Given the description of an element on the screen output the (x, y) to click on. 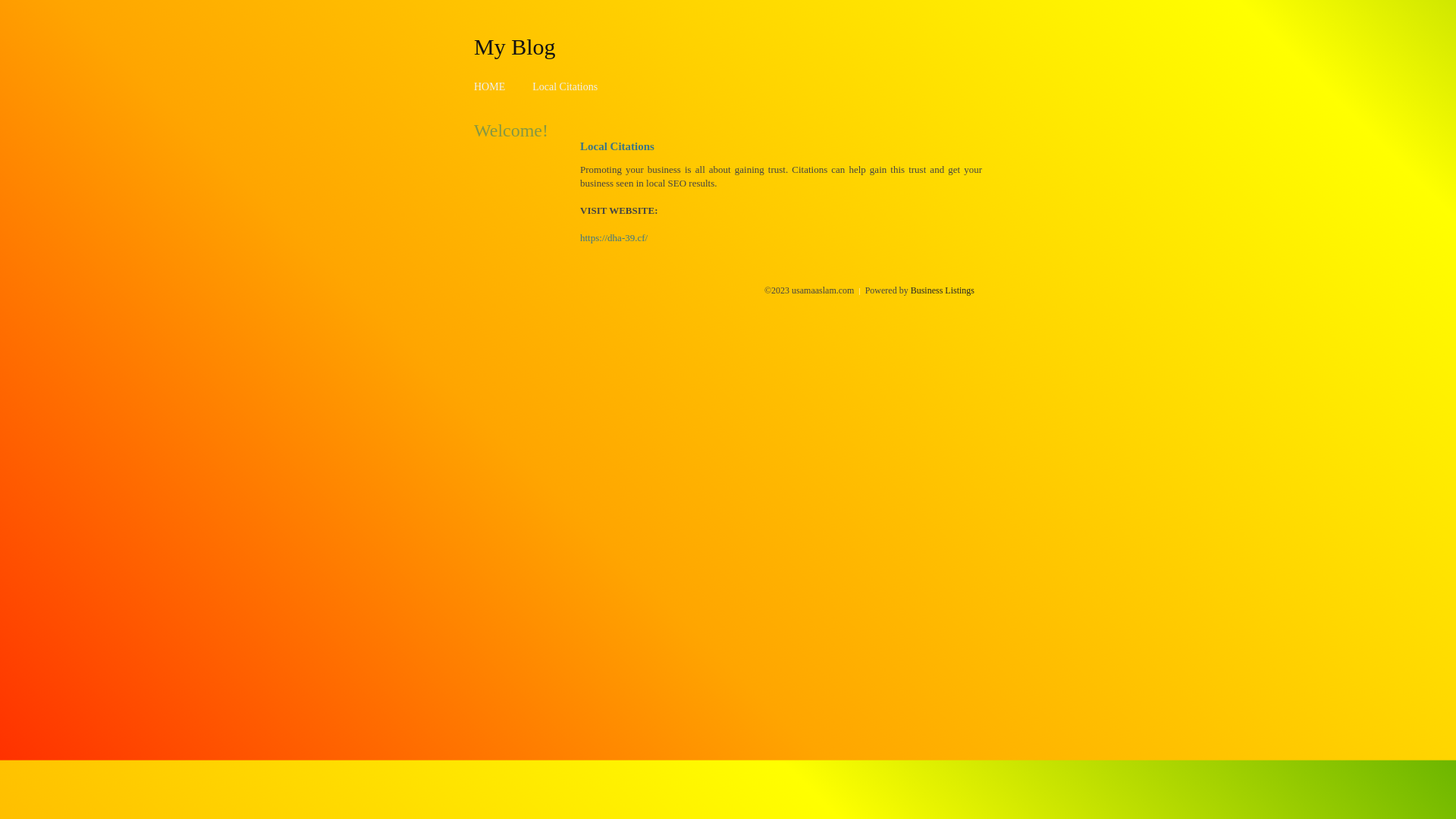
https://dha-39.cf/ Element type: text (613, 237)
My Blog Element type: text (514, 46)
Business Listings Element type: text (942, 290)
HOME Element type: text (489, 86)
Local Citations Element type: text (564, 86)
